Given the description of an element on the screen output the (x, y) to click on. 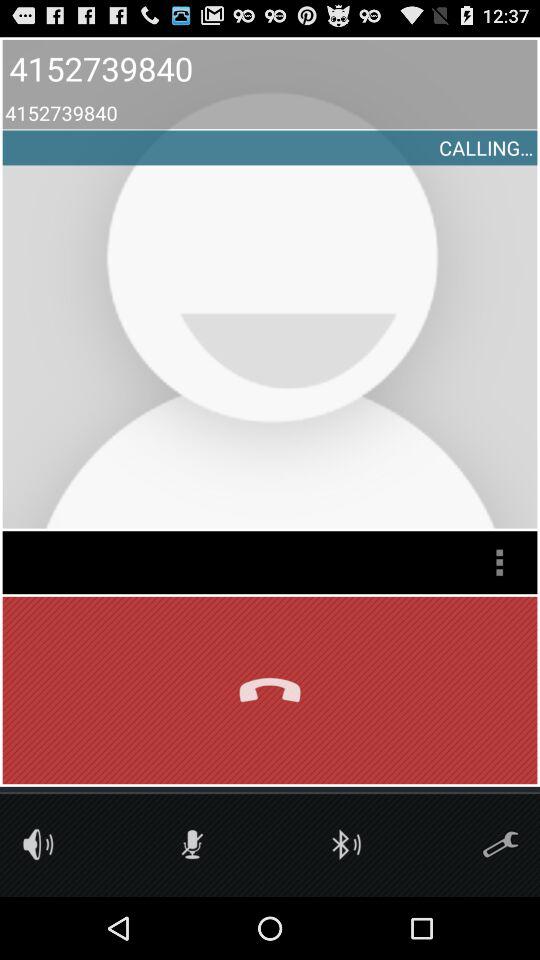
audio options (38, 844)
